Given the description of an element on the screen output the (x, y) to click on. 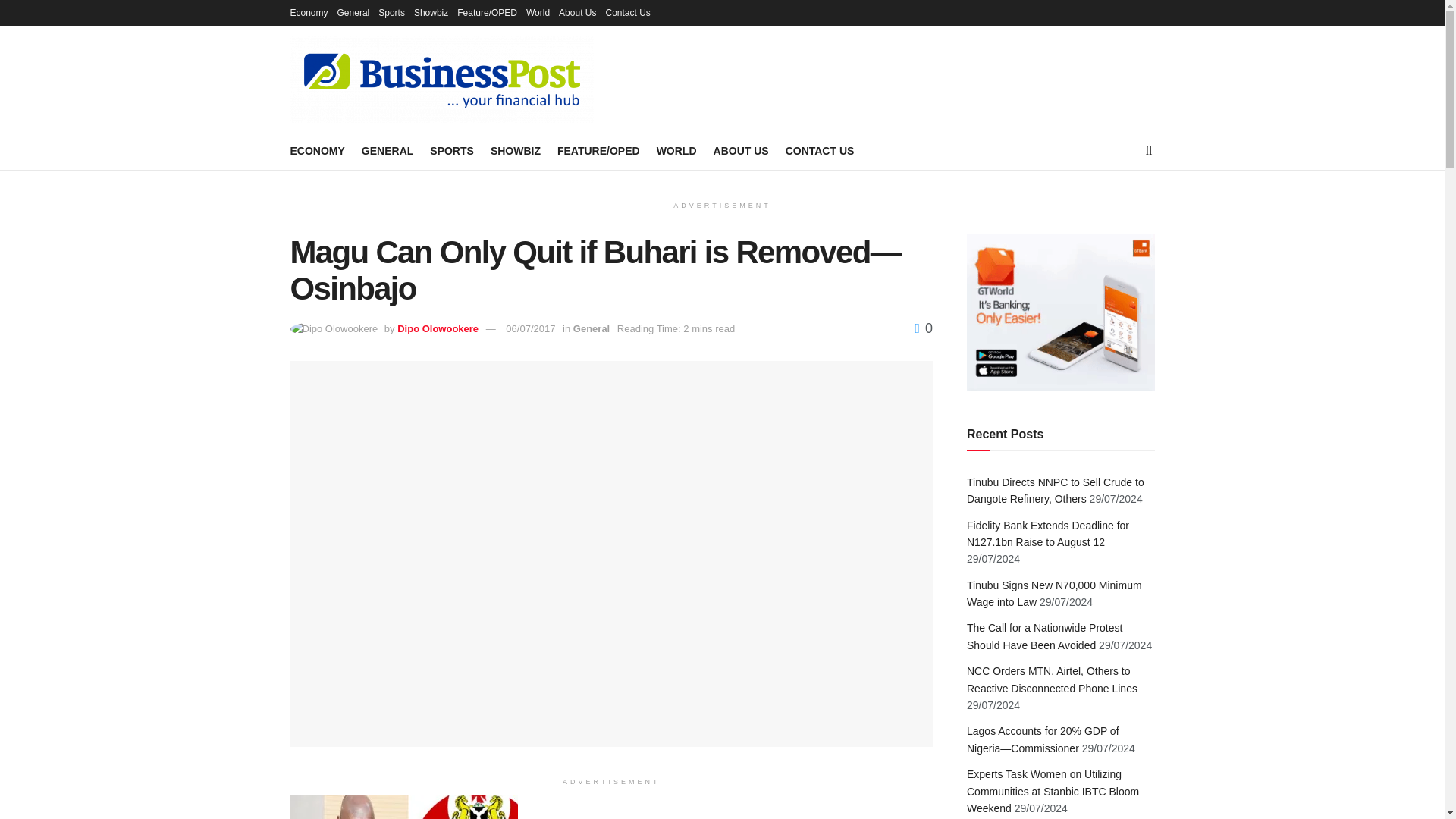
Economy (308, 12)
General (353, 12)
CONTACT US (820, 150)
WORLD (676, 150)
Sports (391, 12)
General (591, 328)
About Us (577, 12)
Dipo Olowookere (438, 328)
ECONOMY (316, 150)
0 (923, 328)
SHOWBIZ (515, 150)
Showbiz (430, 12)
GENERAL (387, 150)
ABOUT US (740, 150)
World (537, 12)
